Given the description of an element on the screen output the (x, y) to click on. 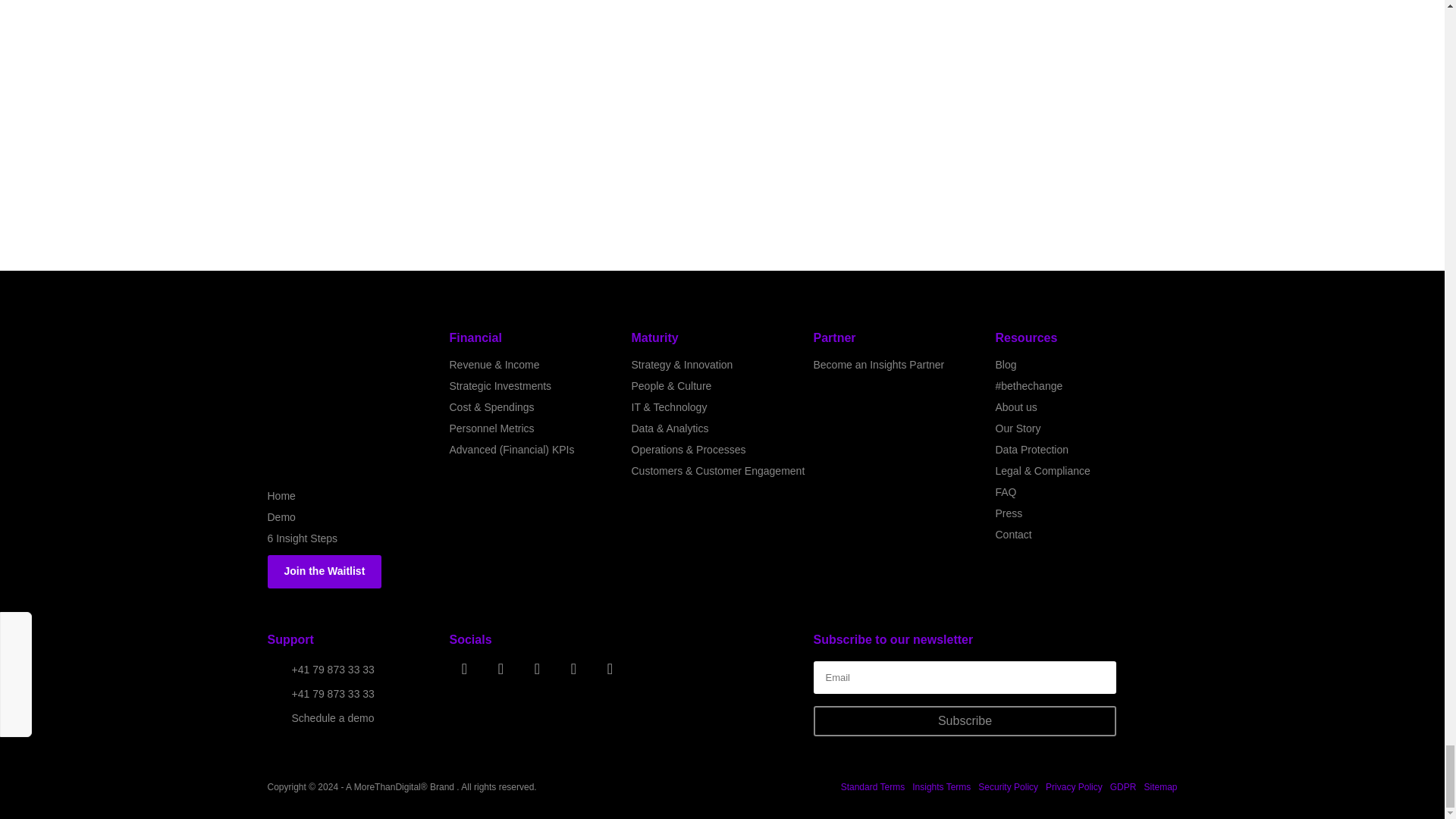
Follow on WhatsApp (609, 668)
Follow on Instagram (463, 668)
Follow on X (572, 668)
Follow on Facebook (499, 668)
mtd-Insights-Icon (338, 394)
Follow on LinkedIn (536, 668)
